Given the description of an element on the screen output the (x, y) to click on. 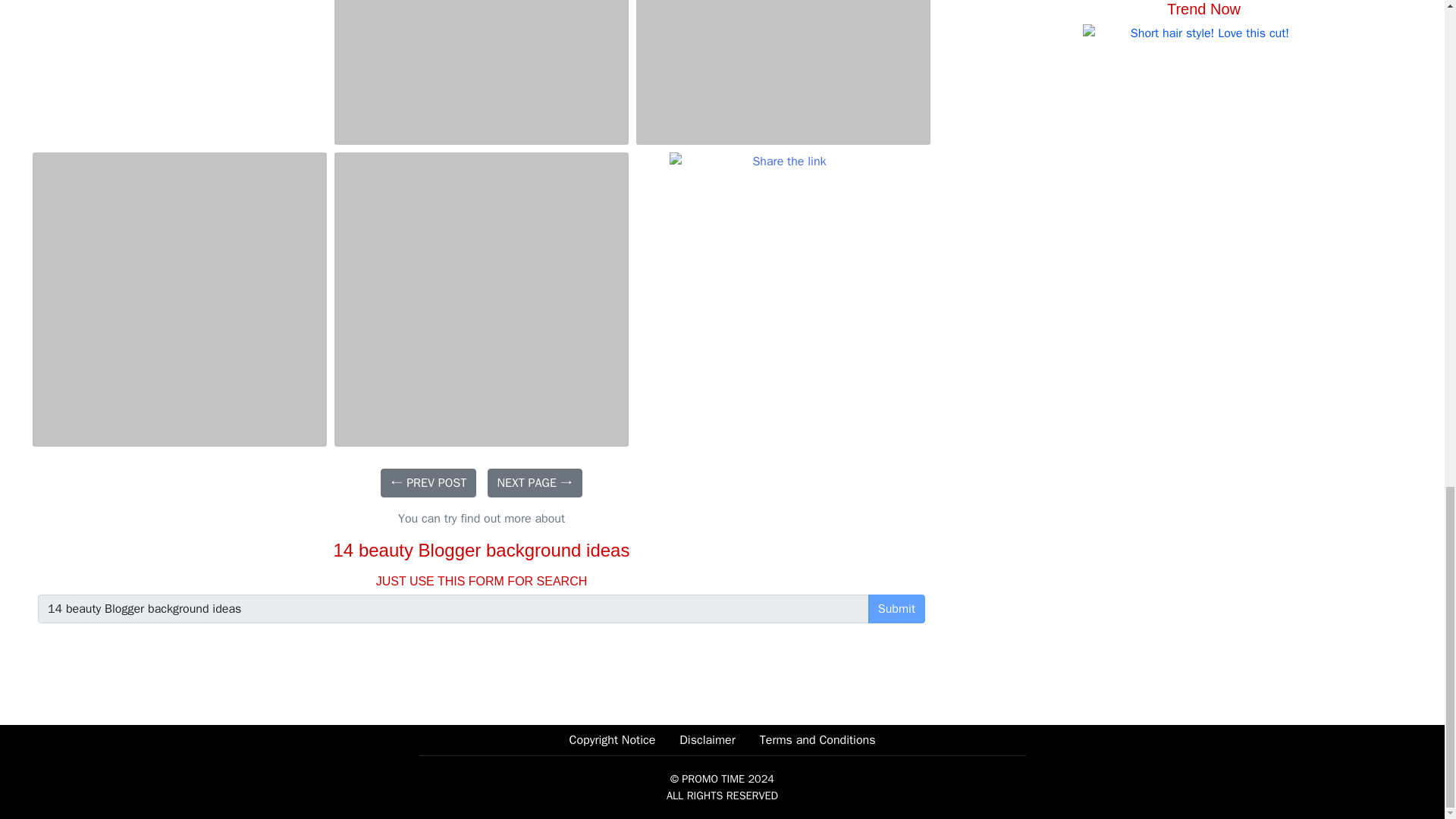
My Favorite Photo and Video Gear for Blogging and Youtube (783, 72)
Home - Rachel Prochnow (783, 266)
14 beauty Blogger background ideas (453, 608)
Beauty Blog Photography - Background Ideas for your Photos (481, 72)
